Given the description of an element on the screen output the (x, y) to click on. 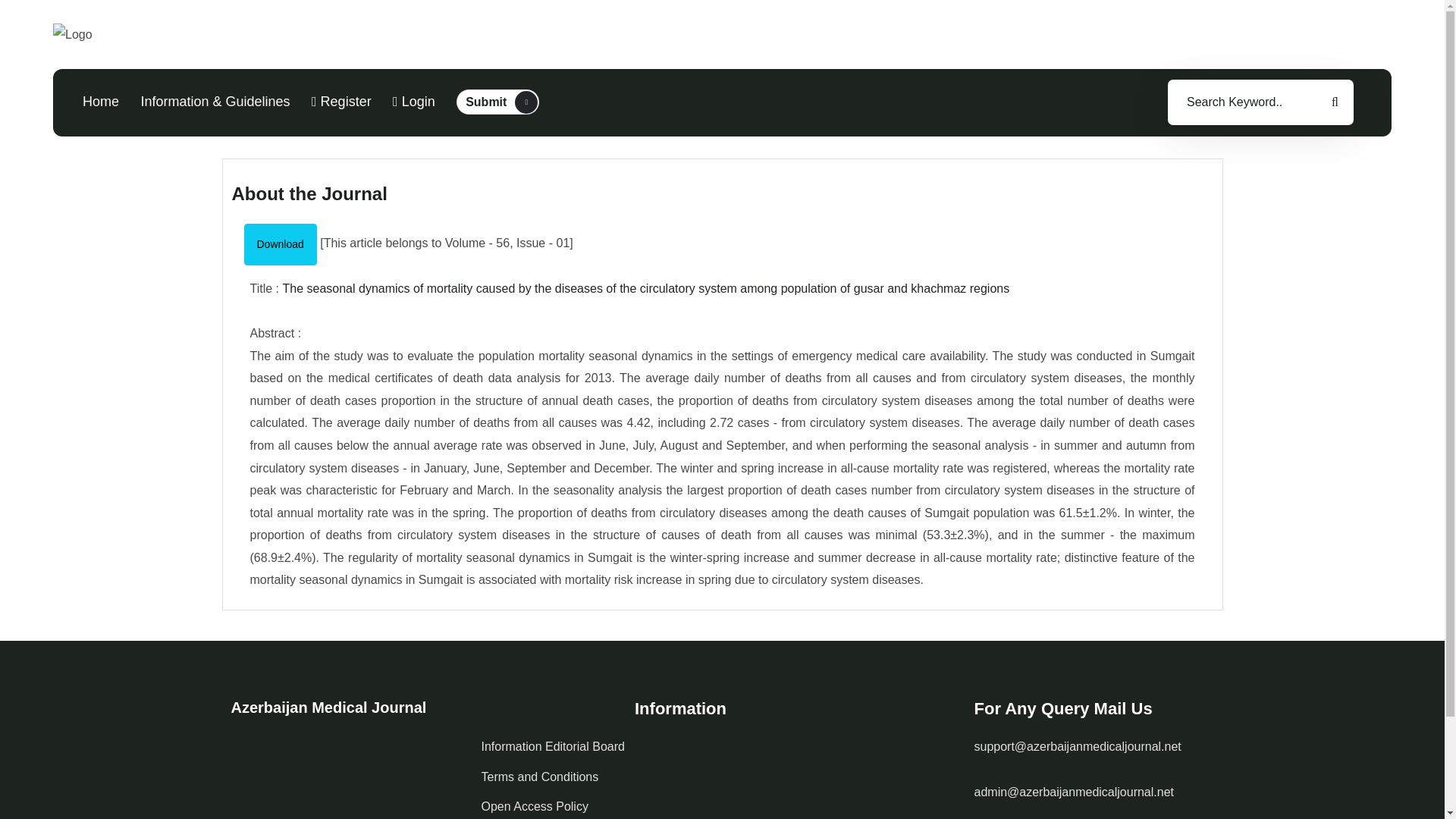
Login (395, 101)
Open Access Policy (534, 806)
Submit (497, 101)
Terms and Conditions (539, 776)
Download (280, 244)
Register (341, 102)
Home (414, 102)
Register (314, 101)
Information Editorial Board (552, 746)
Home (341, 102)
Login (414, 102)
Home (100, 102)
